Given the description of an element on the screen output the (x, y) to click on. 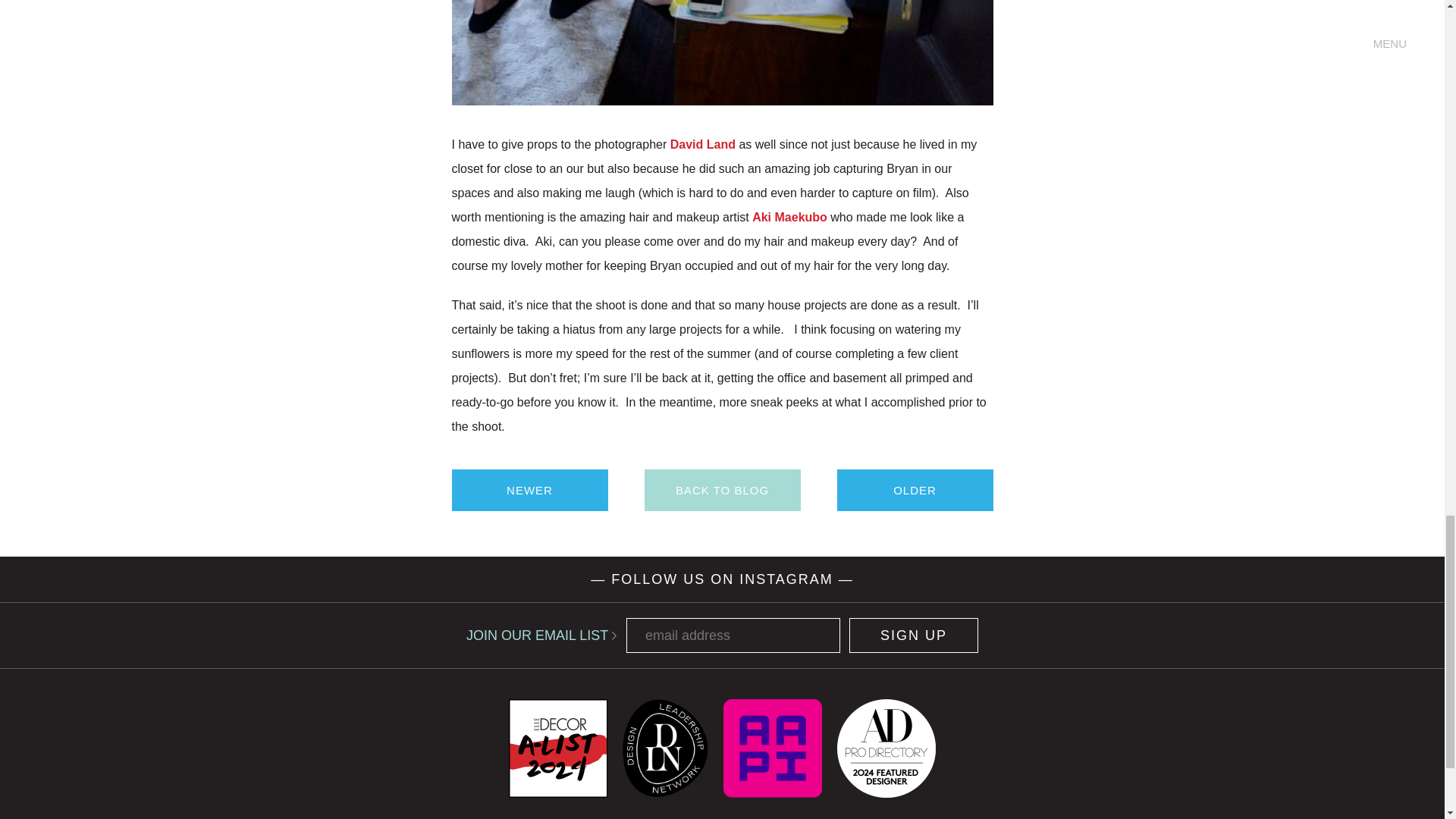
NEWER (529, 490)
BACK TO BLOG (722, 490)
Aki Maekubo (789, 216)
OLDER (914, 490)
email (733, 635)
SIGN UP (913, 635)
David Land (702, 144)
